Given the description of an element on the screen output the (x, y) to click on. 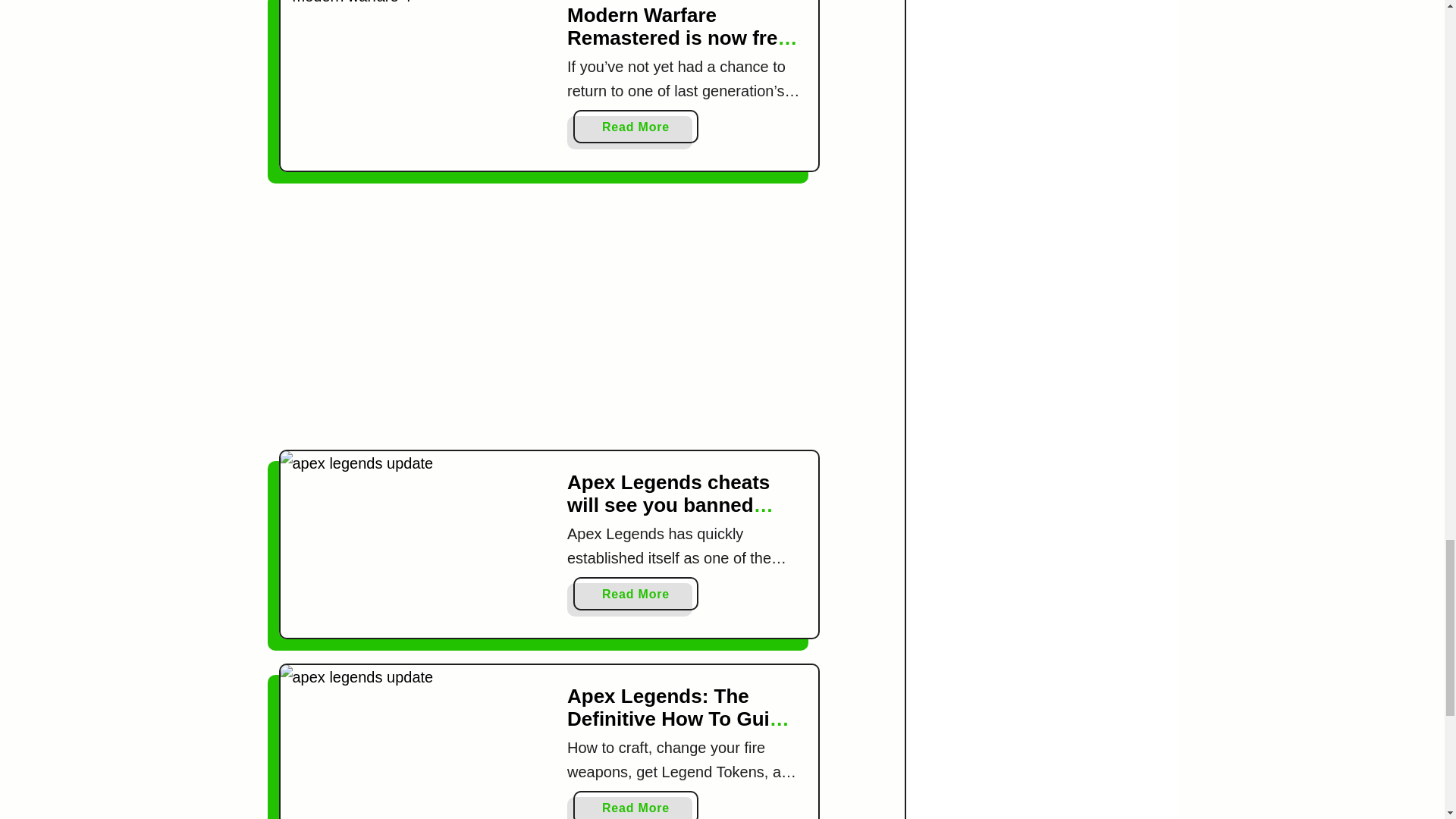
Apex Legends cheats will see you banned pretty quickly (415, 525)
Modern Warfare Remastered is now free on PS4 (415, 67)
